Given the description of an element on the screen output the (x, y) to click on. 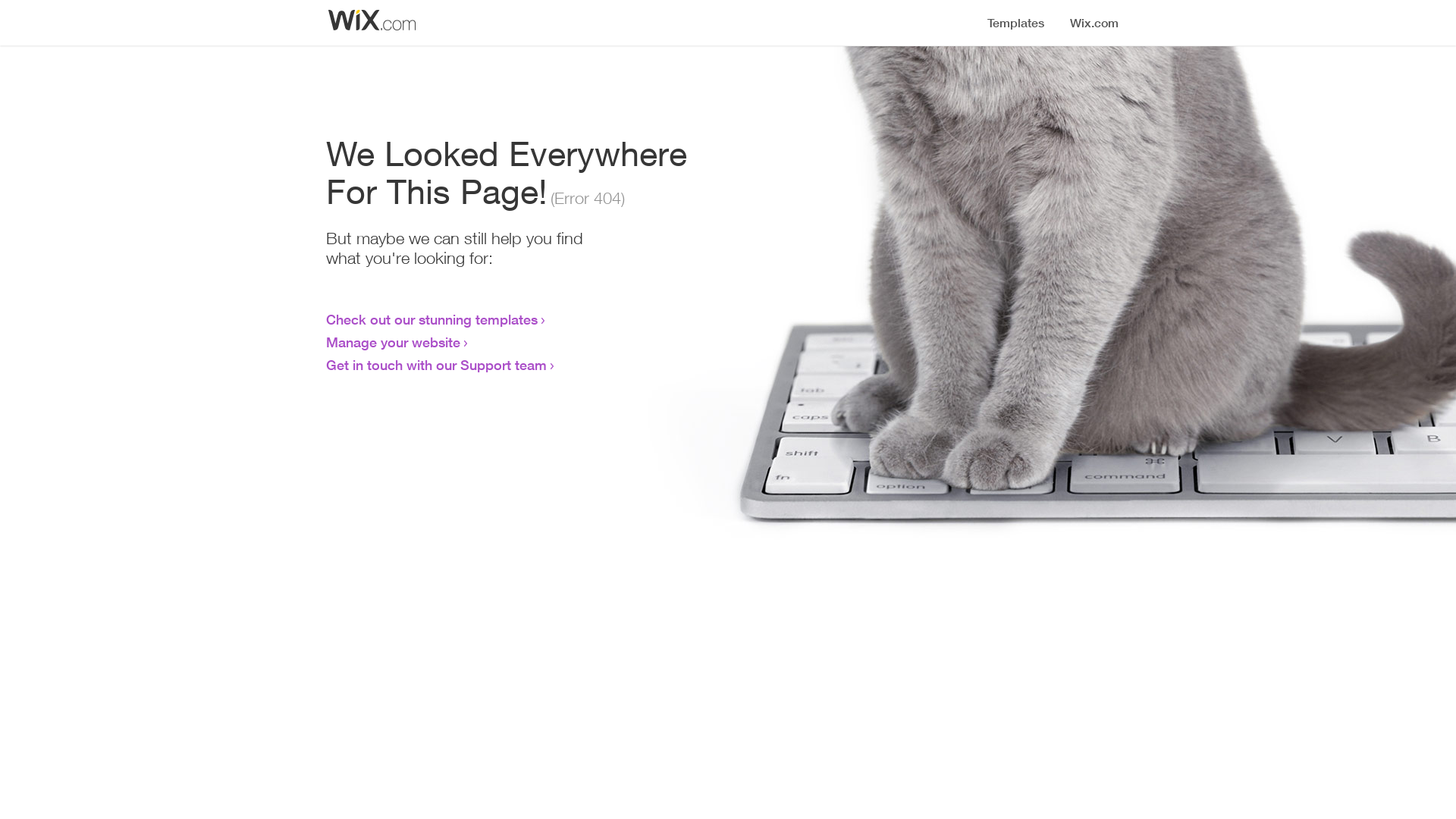
Manage your website Element type: text (393, 341)
Get in touch with our Support team Element type: text (436, 364)
Check out our stunning templates Element type: text (431, 318)
